Given the description of an element on the screen output the (x, y) to click on. 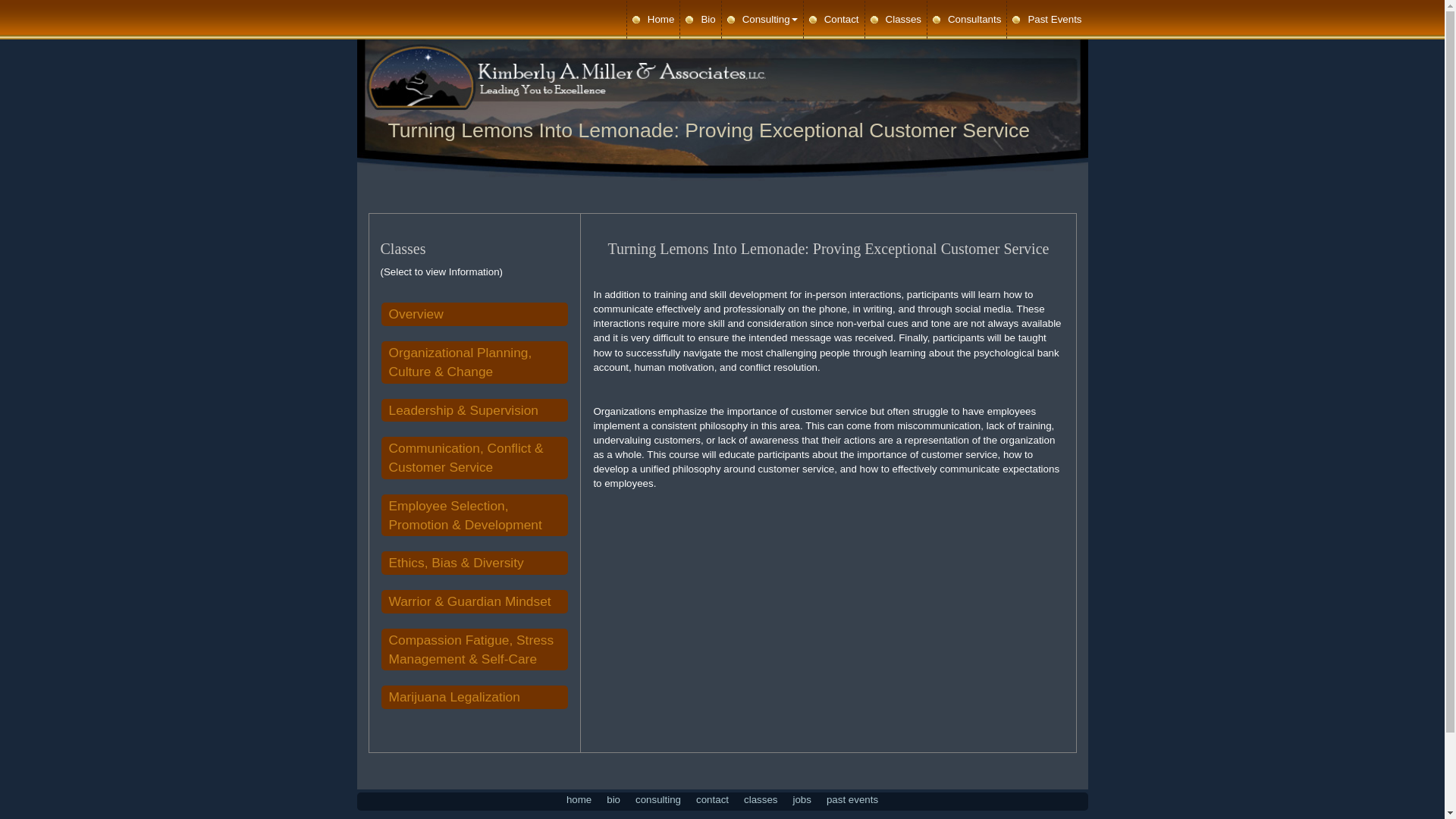
Home (653, 19)
Consultants (966, 19)
Past Events (1046, 19)
Overview (473, 313)
Consulting (762, 19)
Contact (833, 19)
Bio (699, 19)
Classes (895, 19)
